Given the description of an element on the screen output the (x, y) to click on. 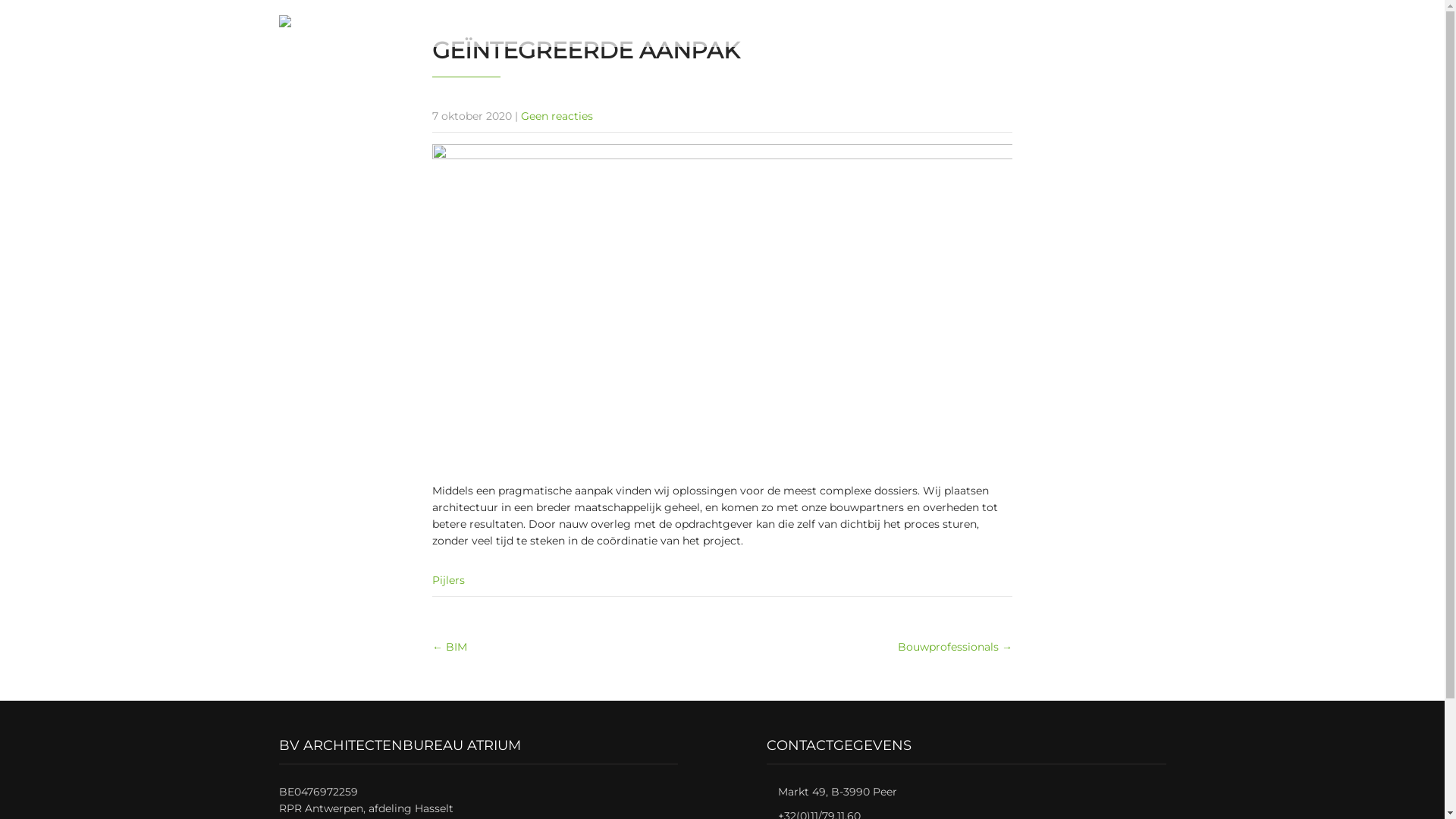
Top of Page Element type: hover (1401, 786)
Pijlers Element type: text (448, 579)
Geen reacties Element type: text (556, 115)
